Given the description of an element on the screen output the (x, y) to click on. 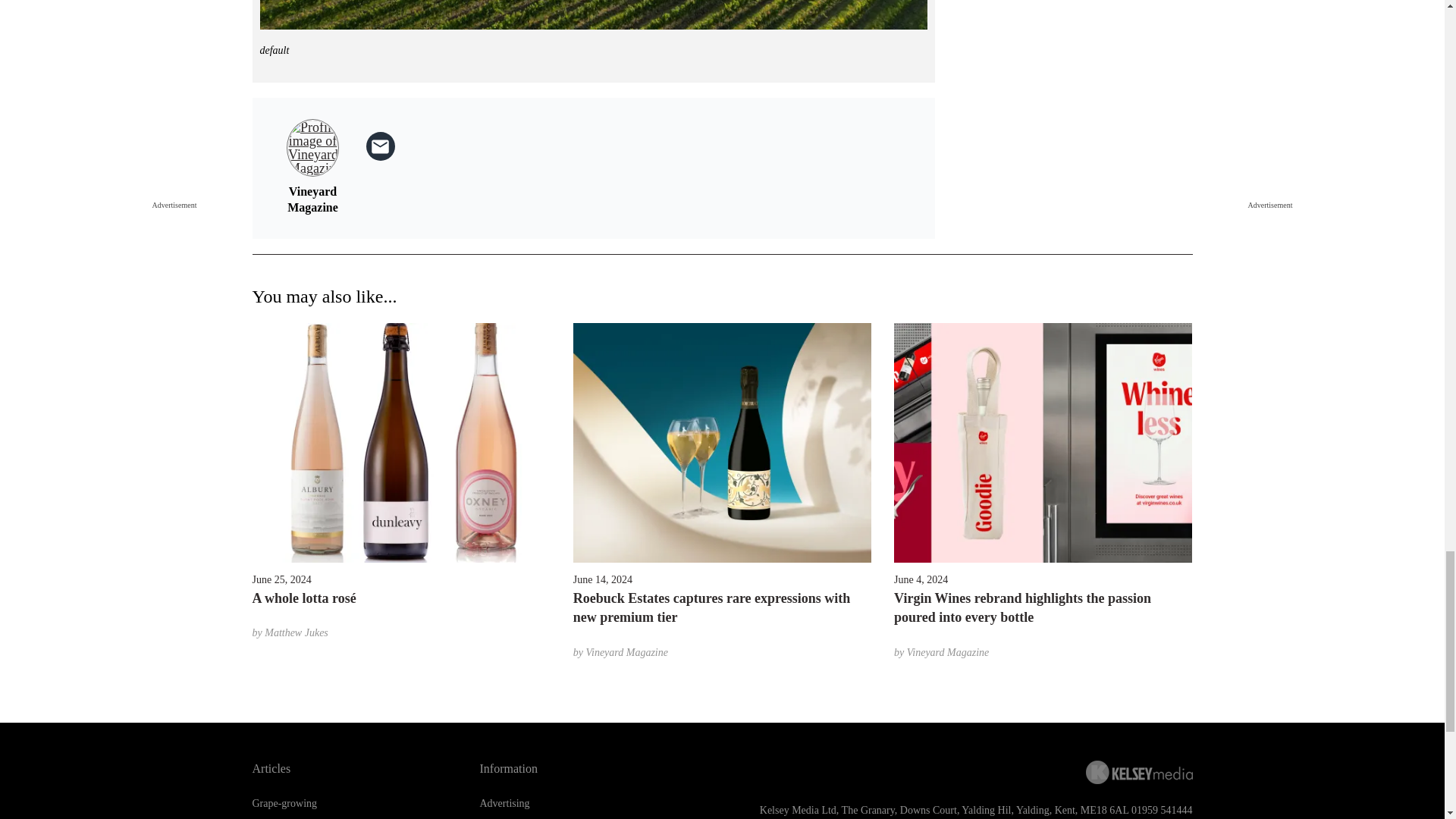
Grape-growing (284, 803)
